Given the description of an element on the screen output the (x, y) to click on. 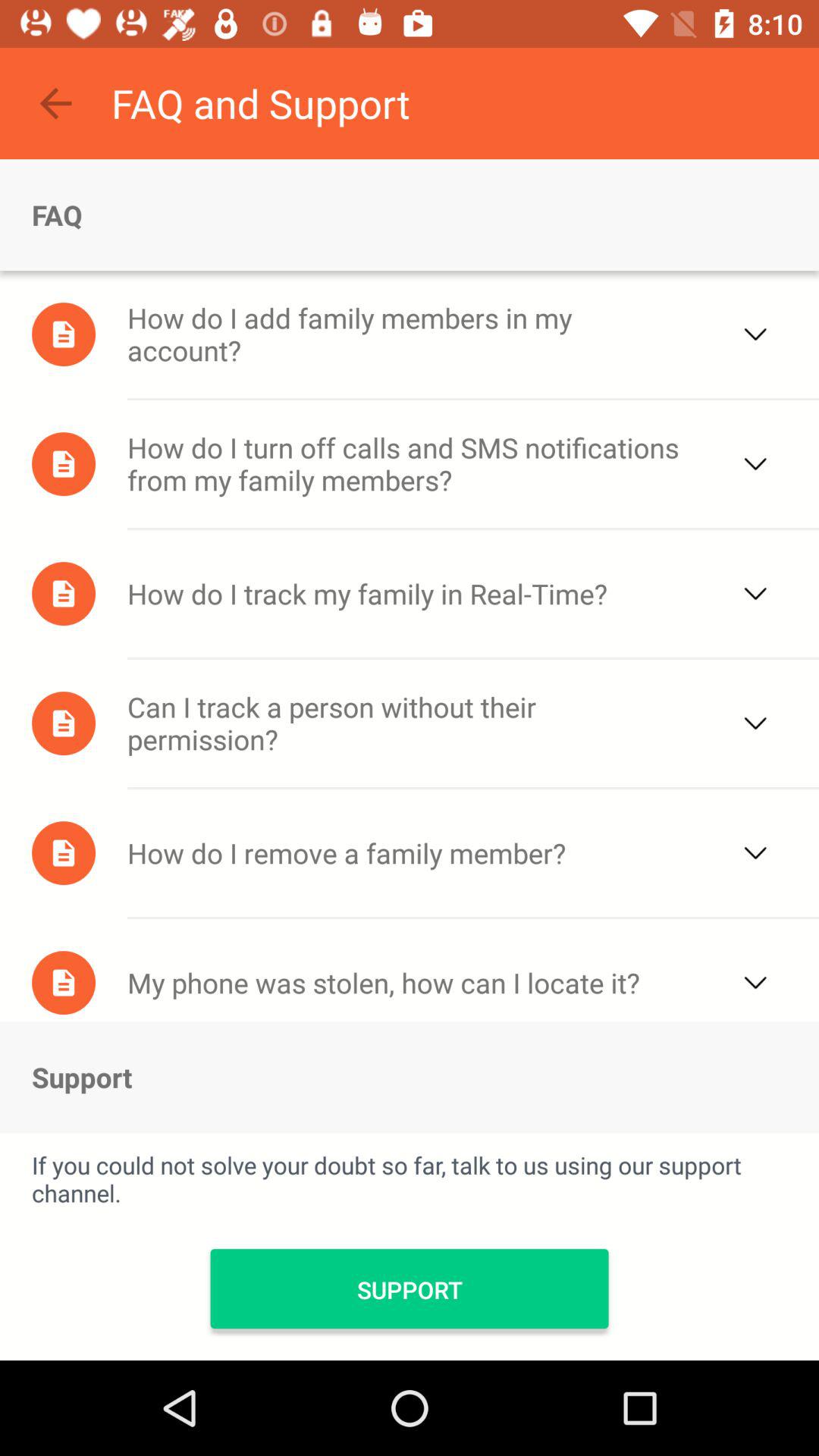
select the item above faq item (55, 103)
